Given the description of an element on the screen output the (x, y) to click on. 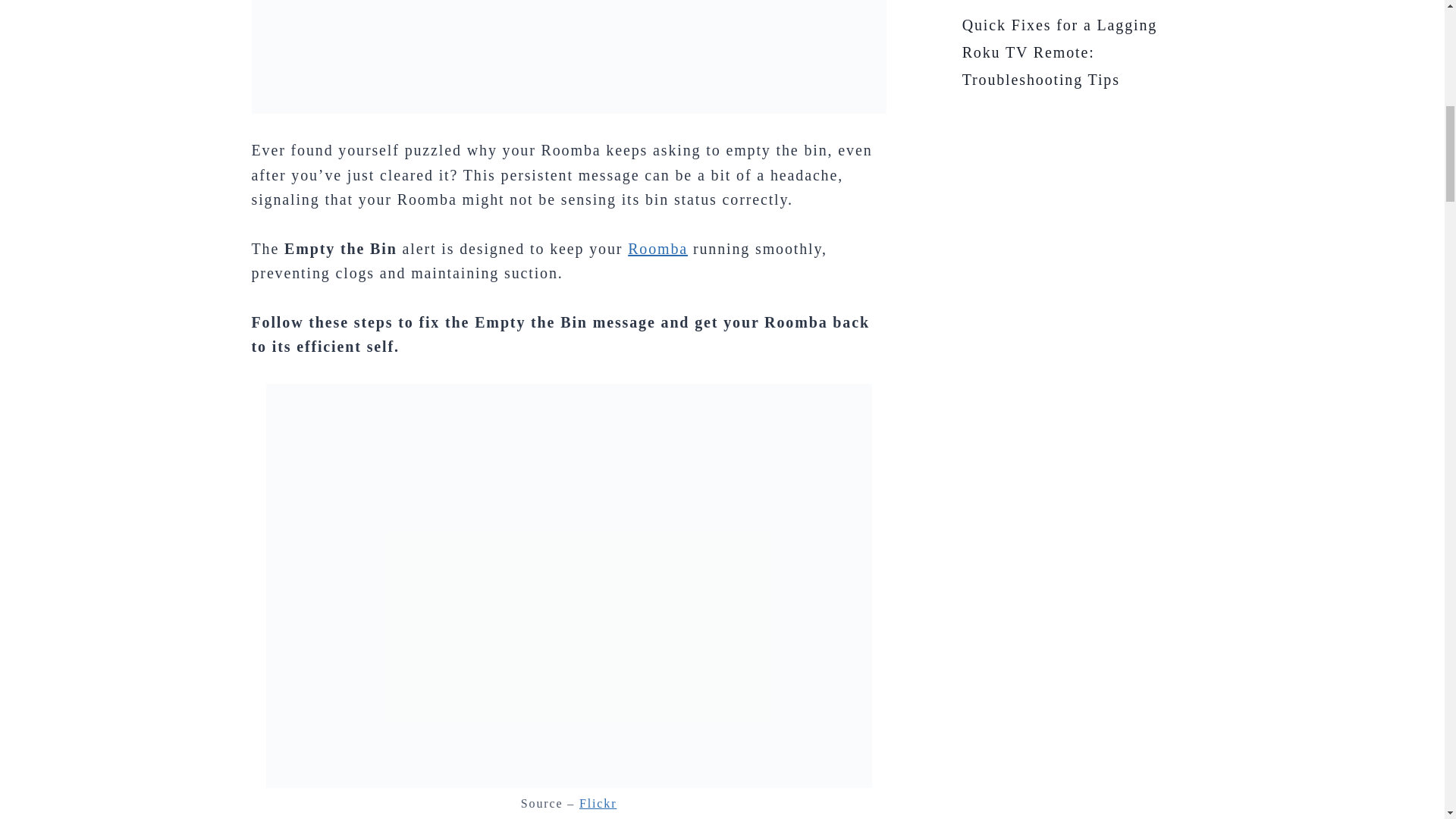
Roomba (657, 248)
Flickr (597, 802)
